Given the description of an element on the screen output the (x, y) to click on. 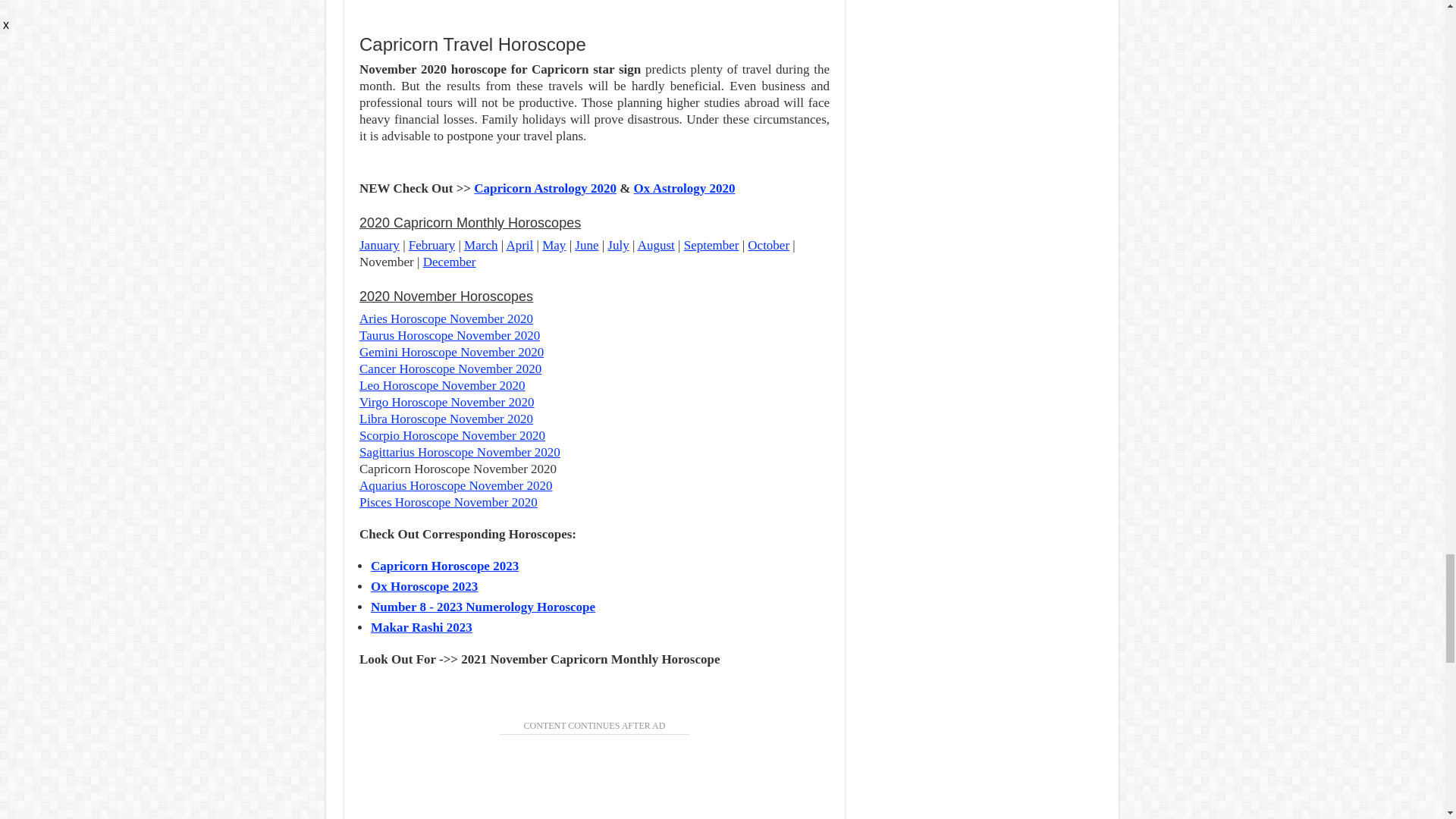
January (378, 245)
February (431, 245)
April (518, 245)
Capricorn Astrology 2020 (544, 187)
Ox Astrology 2020 (684, 187)
May (553, 245)
March (480, 245)
